Given the description of an element on the screen output the (x, y) to click on. 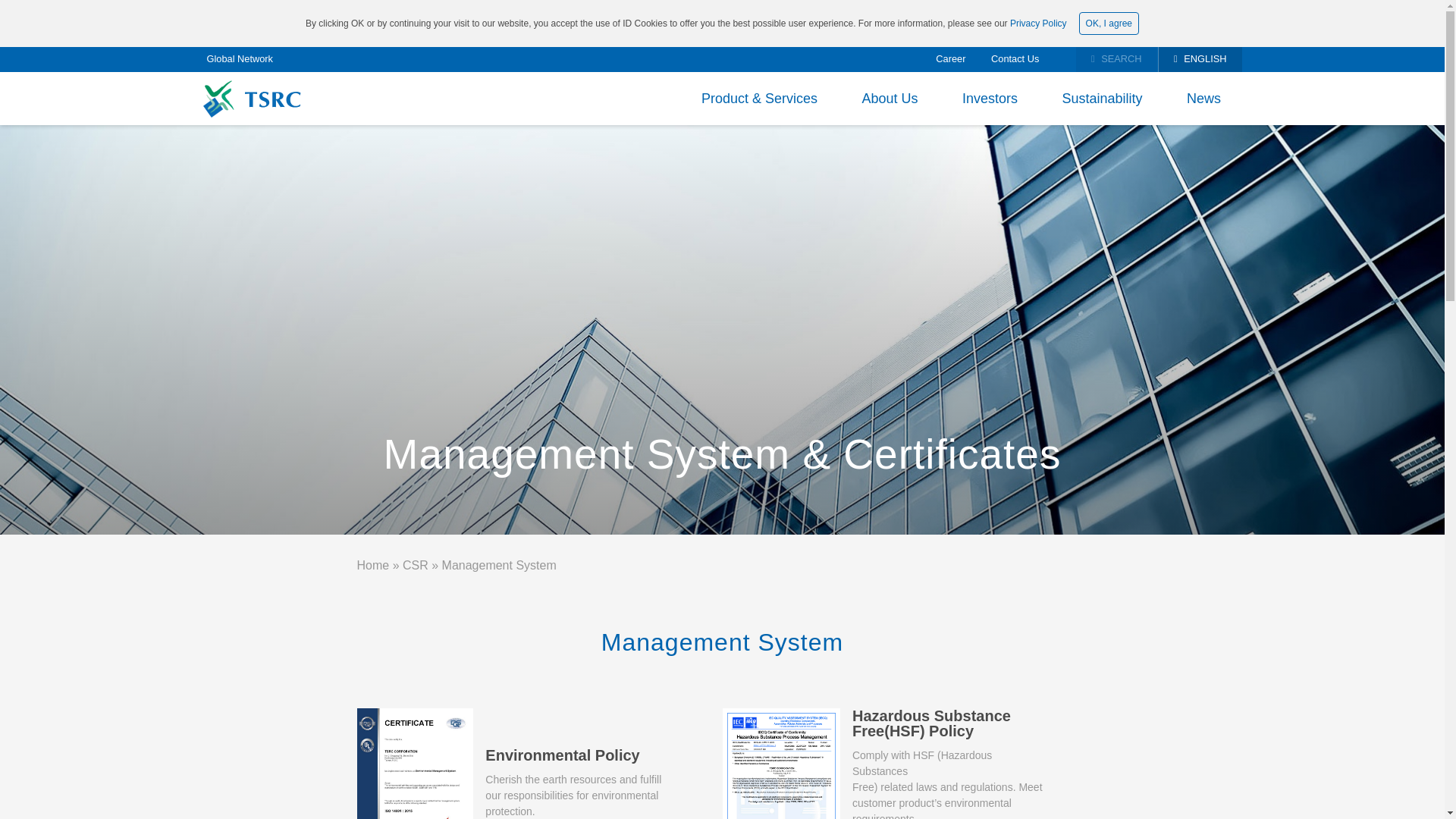
Privacy Policy (1038, 23)
Contact Us (1014, 59)
About Us (889, 98)
Career (950, 59)
Investors (989, 98)
SEARCH (1116, 59)
Global Network (239, 59)
